Given the description of an element on the screen output the (x, y) to click on. 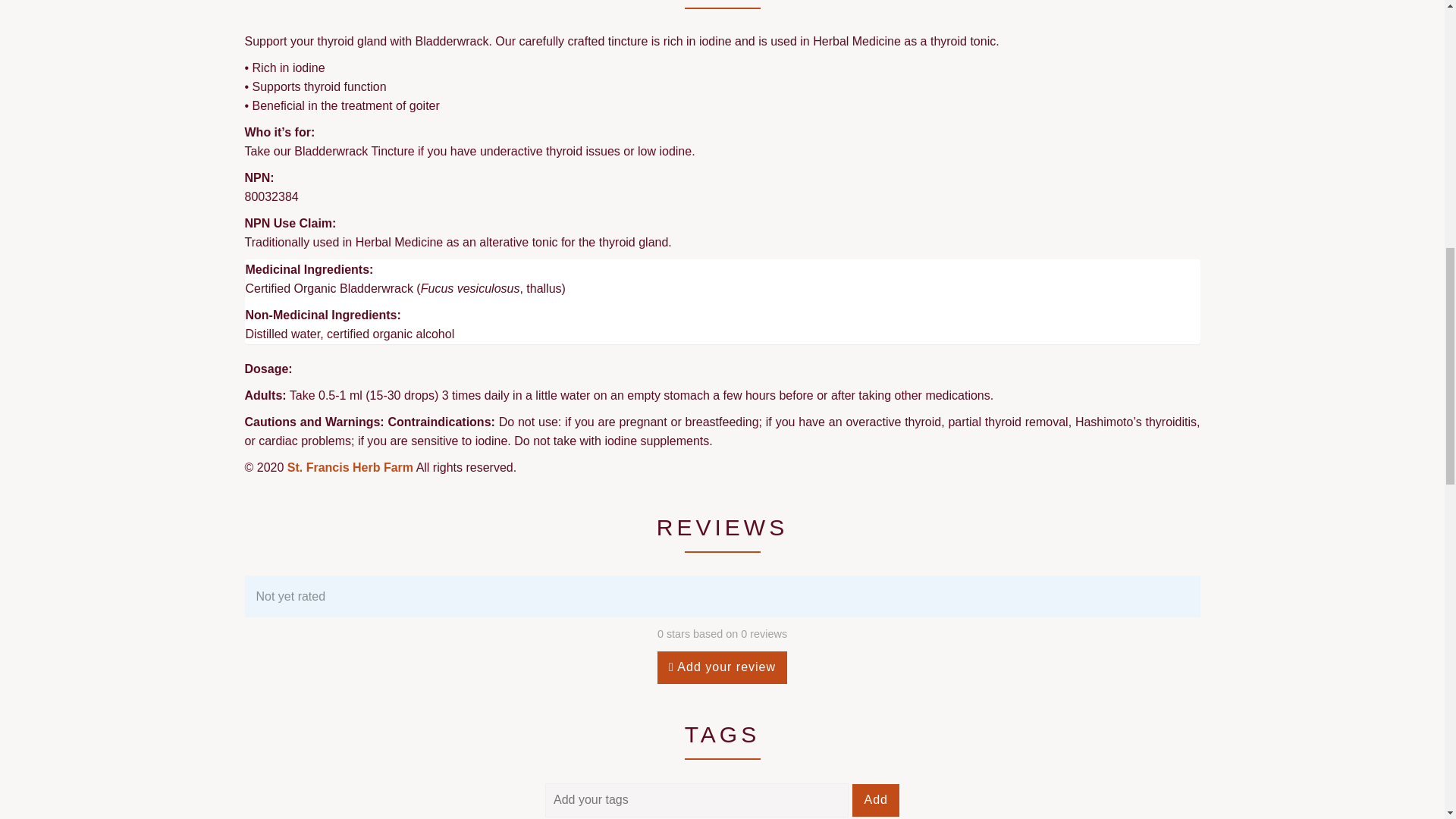
Add your review (722, 667)
Add (874, 799)
